Given the description of an element on the screen output the (x, y) to click on. 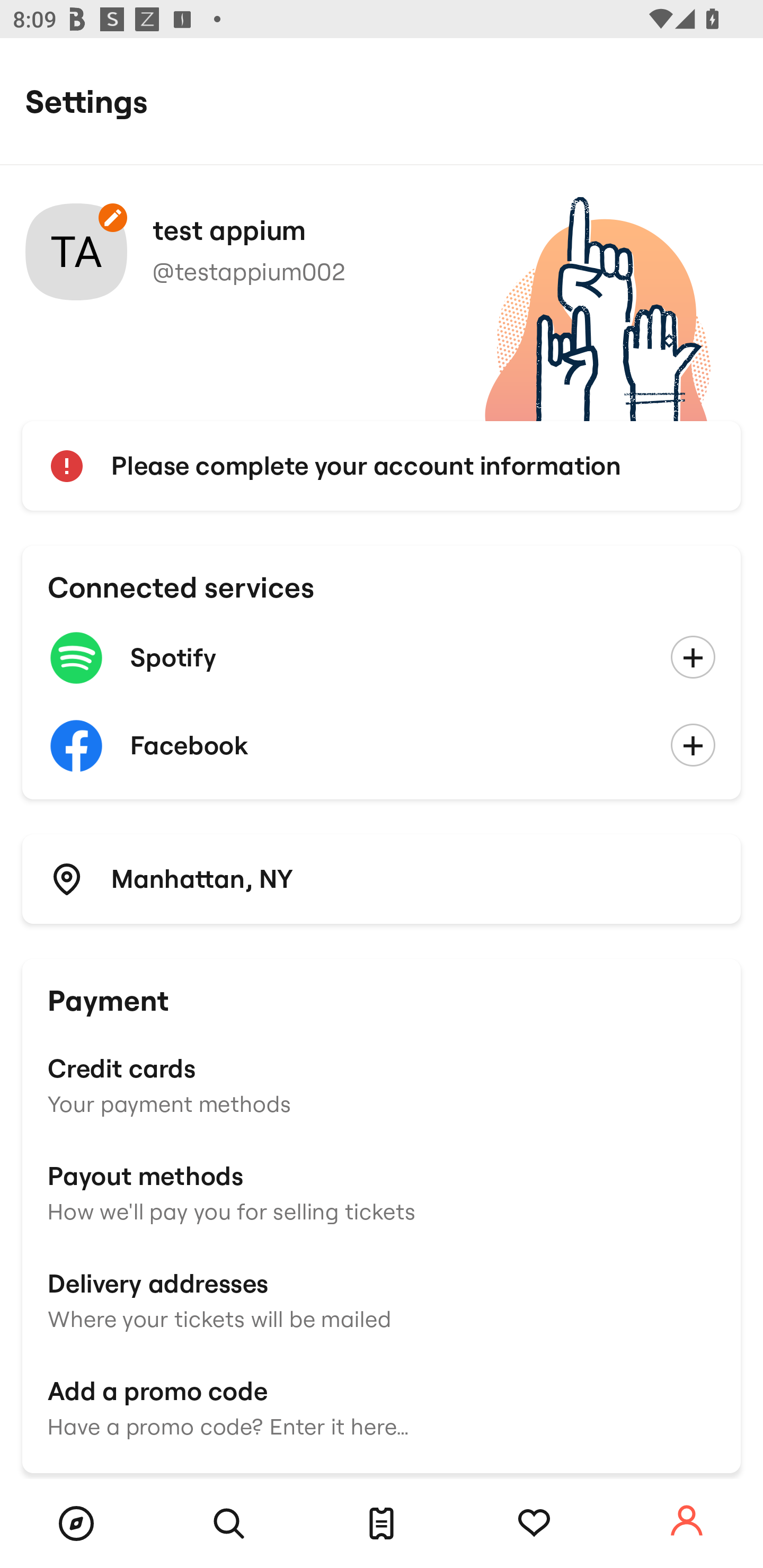
Your account photo (76, 252)
Please complete your account information (381, 466)
Spotify (381, 658)
Facebook (381, 746)
Manhattan, NY (381, 878)
Credit cards Your payment methods (381, 1084)
Add a promo code Have a promo code? Enter it here… (381, 1406)
Browse (76, 1523)
Search (228, 1523)
Tickets (381, 1523)
Tracking (533, 1523)
Account (686, 1521)
